Given the description of an element on the screen output the (x, y) to click on. 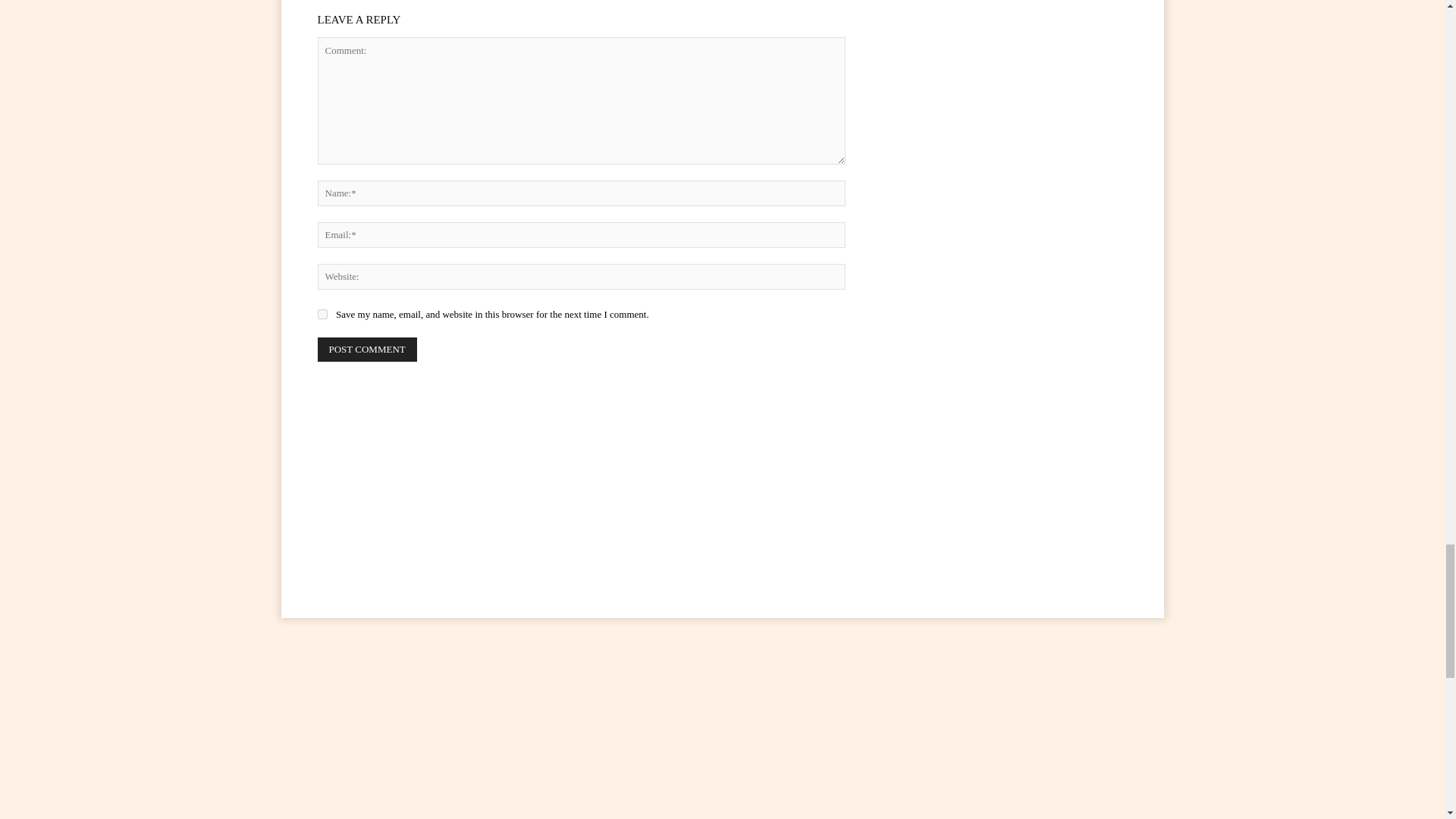
Post Comment (366, 349)
yes (321, 314)
